Given the description of an element on the screen output the (x, y) to click on. 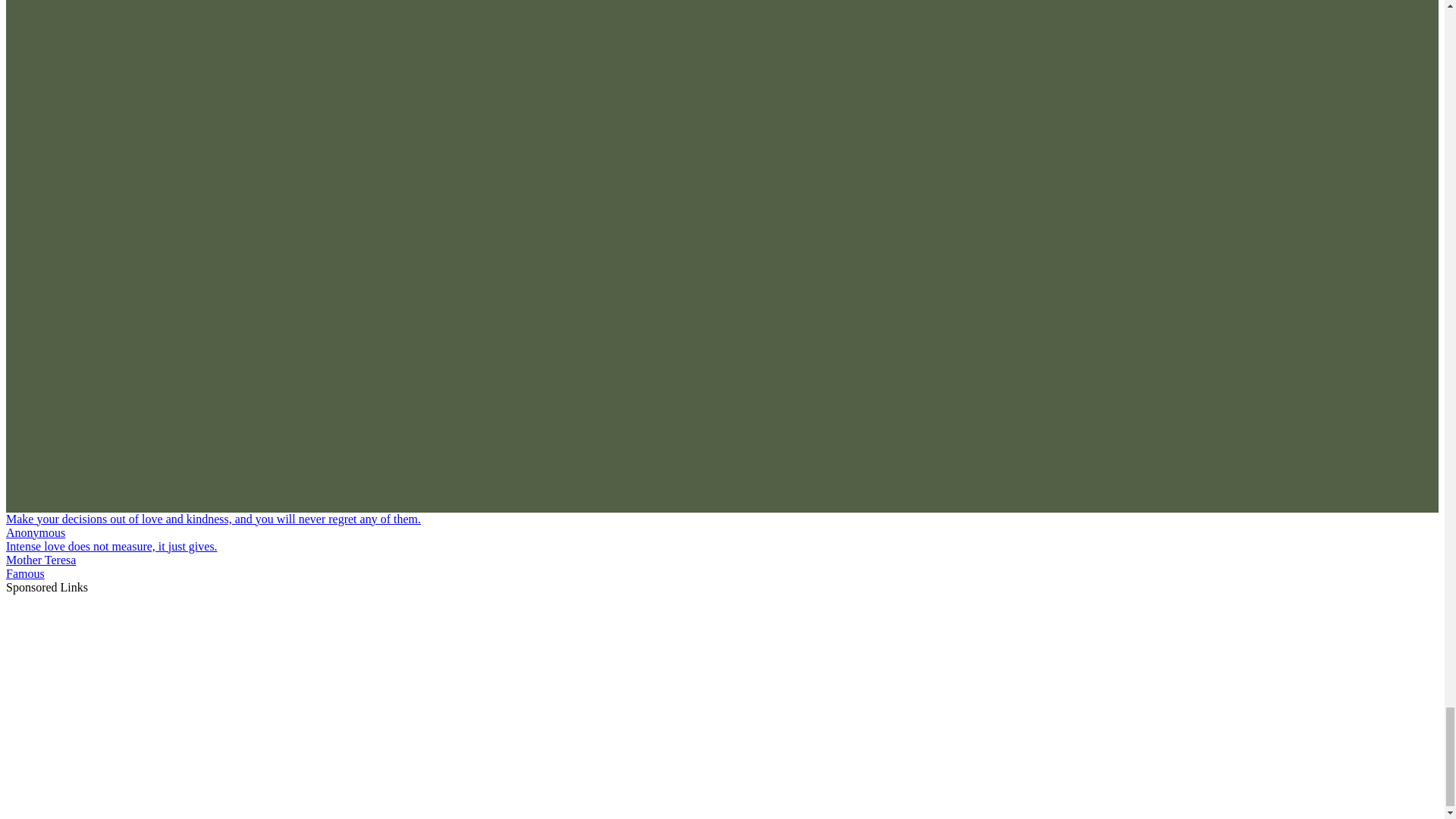
see quote (212, 518)
see quote (110, 545)
